Given the description of an element on the screen output the (x, y) to click on. 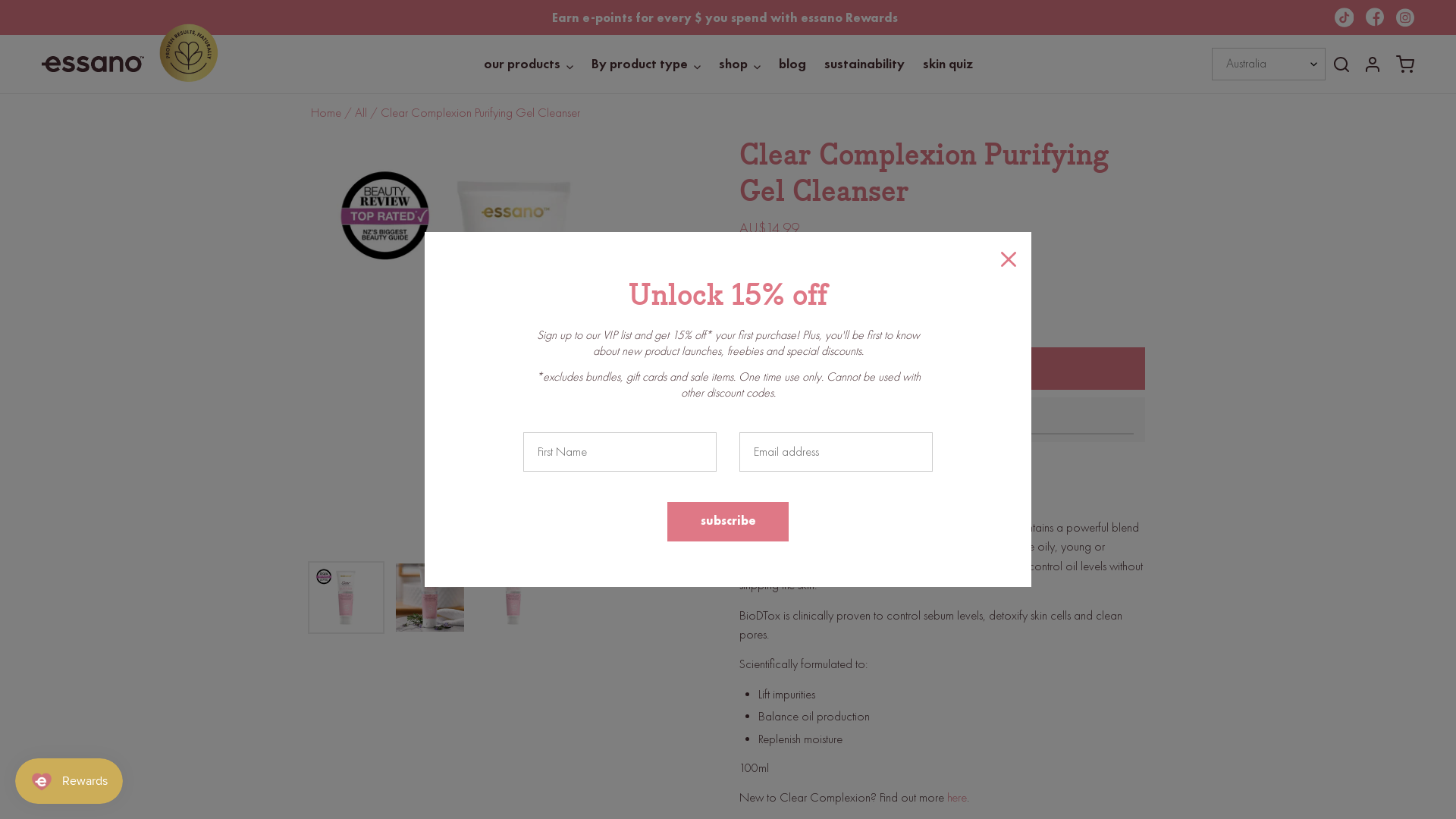
Smile.io Rewards Program Launcher Element type: hover (68, 780)
Log in Element type: text (1372, 64)
here Element type: text (956, 797)
blog Element type: text (791, 63)
our products Element type: text (528, 63)
Shipping Element type: text (829, 253)
Home Element type: text (325, 112)
skin quiz Element type: text (946, 63)
(more info) Element type: text (948, 317)
By product type Element type: text (645, 63)
shop Element type: text (739, 63)
Add to cart Element type: text (942, 368)
sustainability Element type: text (863, 63)
Search Element type: text (1341, 64)
All Element type: text (360, 112)
subscribe Element type: text (727, 521)
Cart Element type: text (1404, 63)
